Given the description of an element on the screen output the (x, y) to click on. 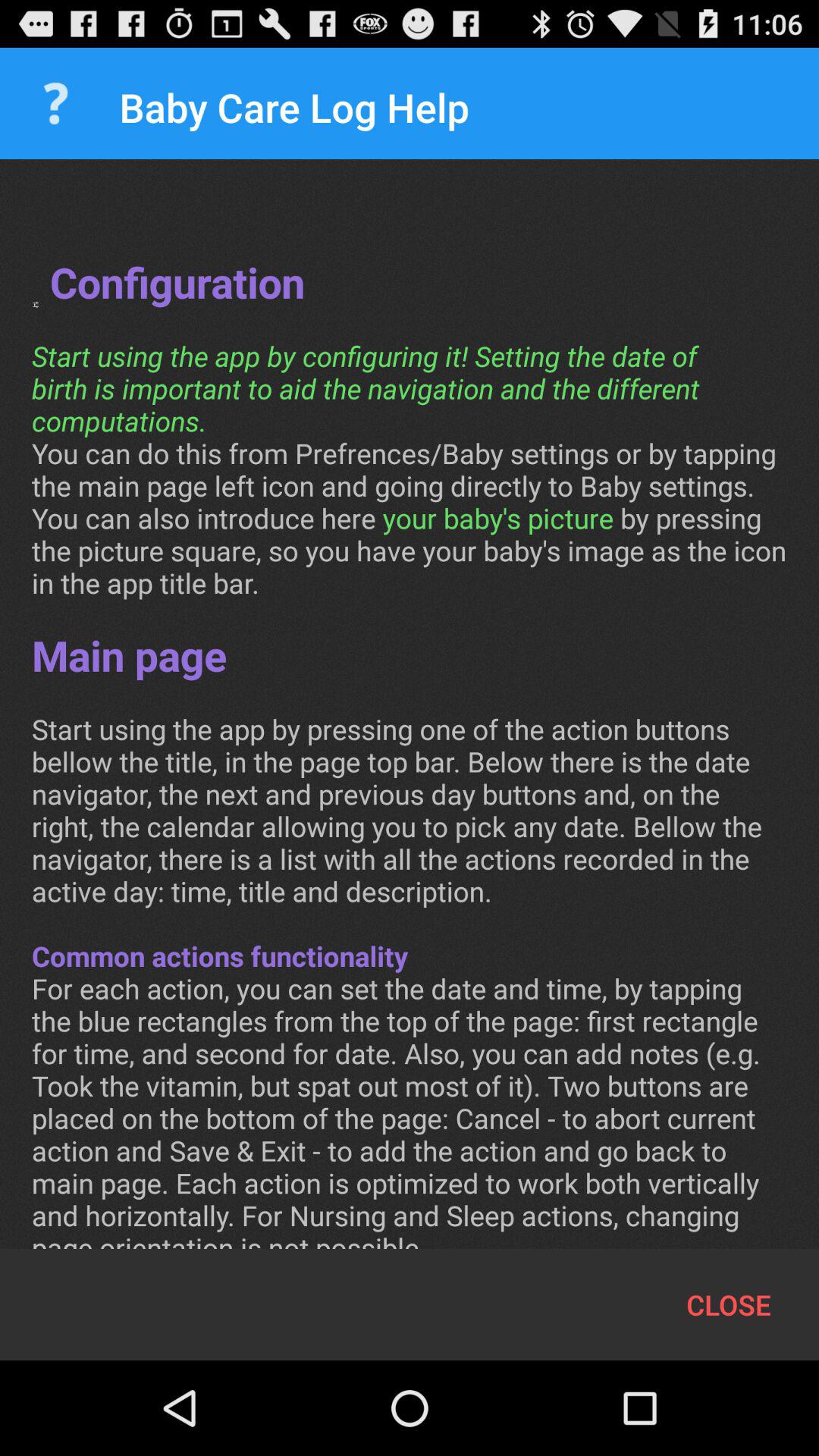
launch the icon above close (409, 719)
